Given the description of an element on the screen output the (x, y) to click on. 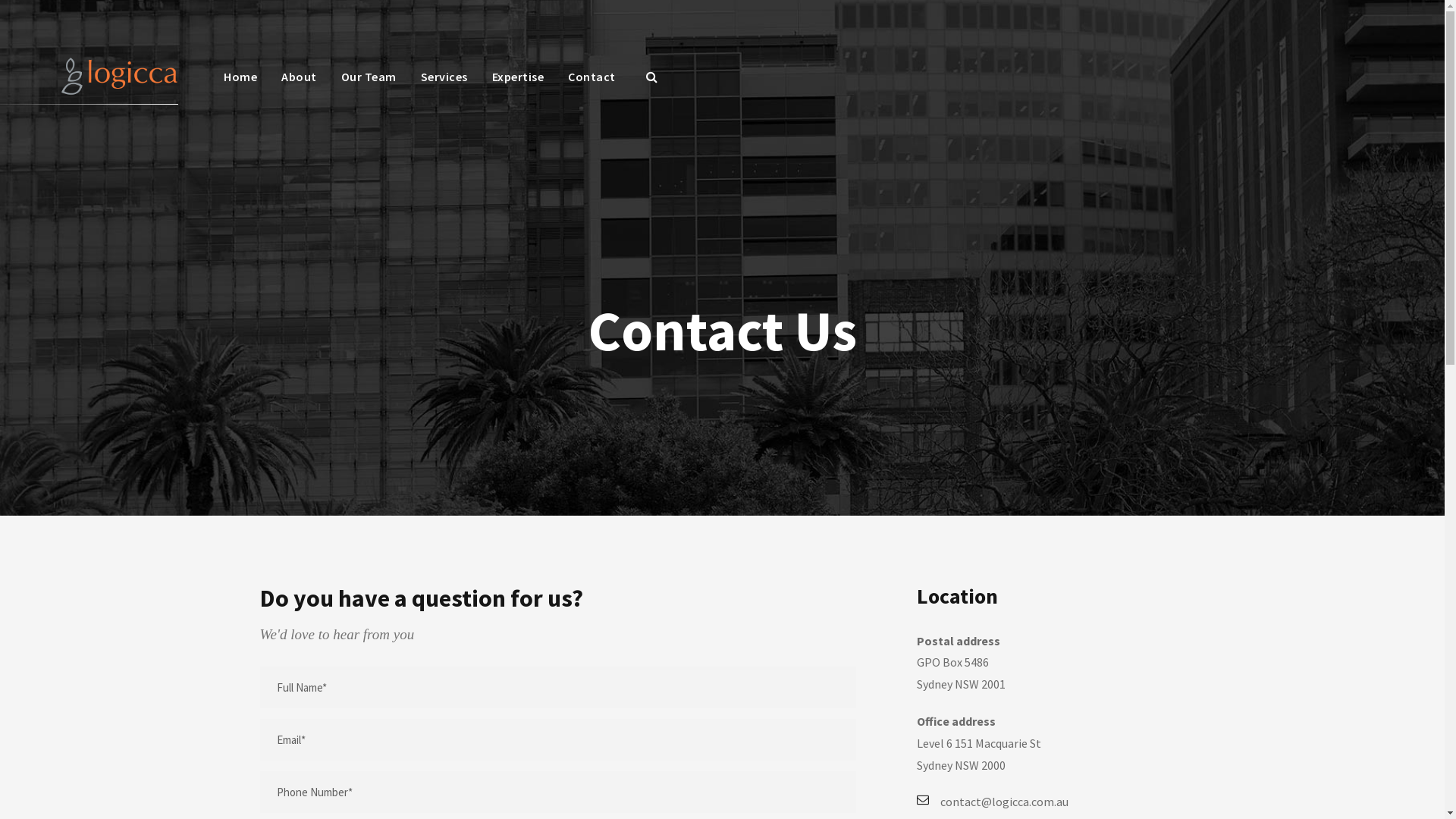
Our Team Element type: text (368, 84)
Services Element type: text (443, 84)
logicca_logo_orange Element type: hover (119, 75)
About Element type: text (298, 84)
Contact Element type: text (591, 84)
Home Element type: text (240, 84)
Expertise Element type: text (517, 84)
